Given the description of an element on the screen output the (x, y) to click on. 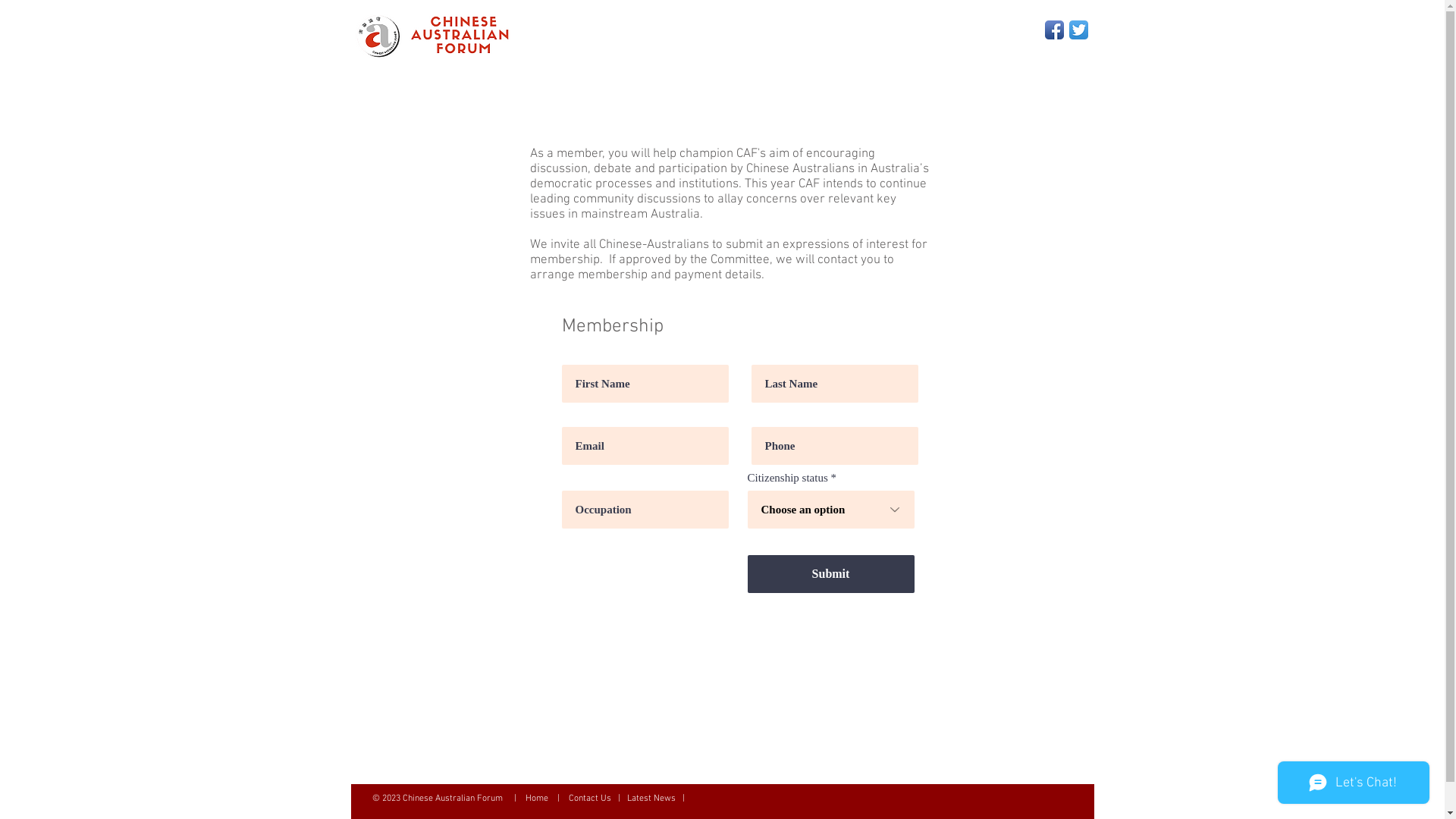
Submit Element type: text (830, 574)
Home Element type: text (536, 798)
Latest News Element type: text (650, 798)
Contact Us Element type: text (589, 798)
